Given the description of an element on the screen output the (x, y) to click on. 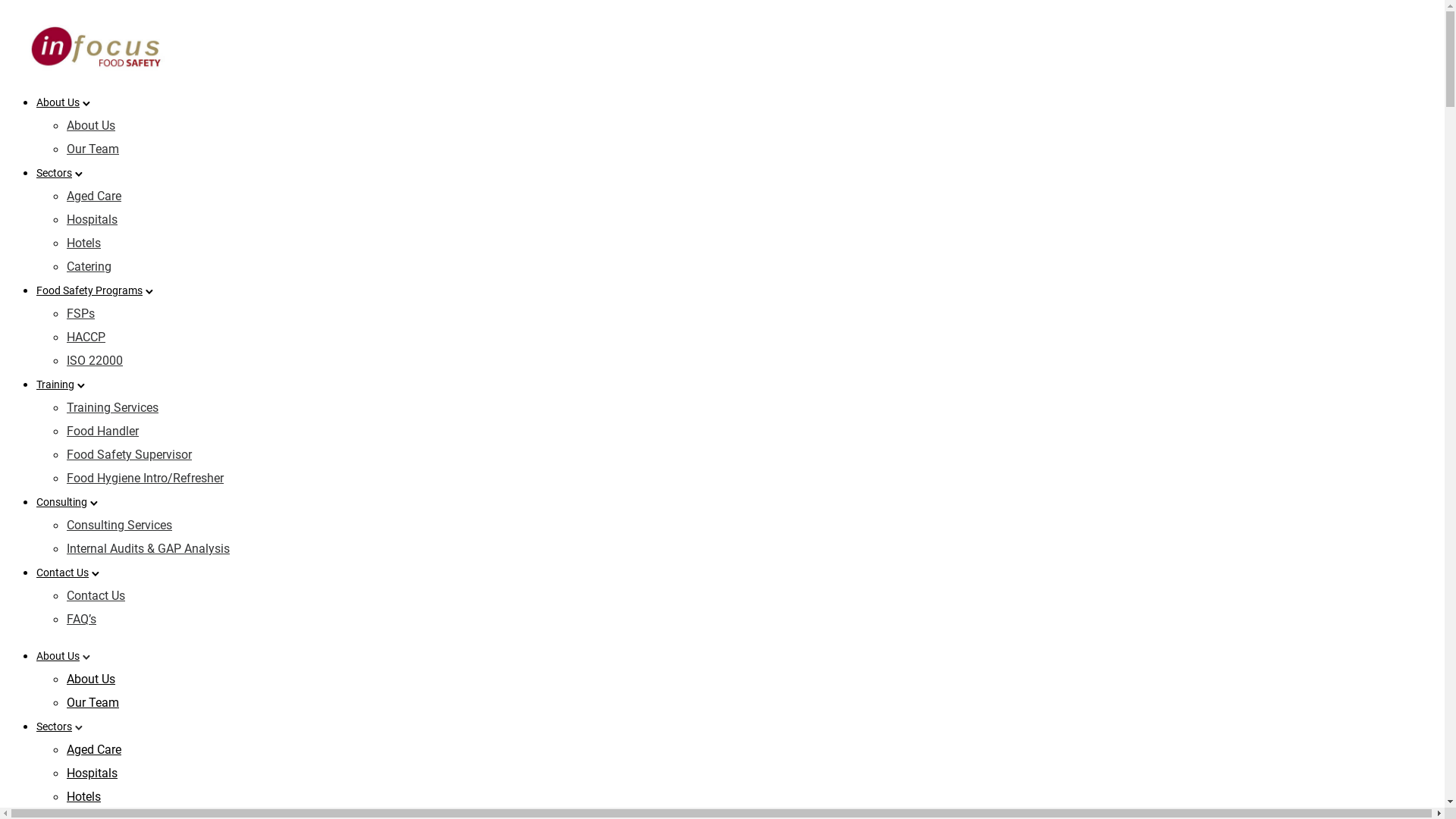
Our Team Element type: text (92, 702)
Hotels Element type: text (83, 242)
Consulting Element type: text (61, 501)
Our Team Element type: text (92, 148)
Food Safety Programs Element type: text (89, 290)
FSPs Element type: text (80, 313)
Hospitals Element type: text (91, 772)
About Us Element type: text (90, 125)
Food Safety Supervisor Element type: text (128, 454)
Catering Element type: text (88, 266)
Aged Care Element type: text (93, 749)
About Us Element type: text (90, 678)
Hospitals Element type: text (91, 219)
Contact Us Element type: text (62, 572)
Training Services Element type: text (112, 407)
HACCP Element type: text (85, 336)
Sectors Element type: text (54, 726)
Contact Us Element type: text (95, 595)
Food Hygiene Intro/Refresher Element type: text (144, 477)
Consulting Services Element type: text (119, 524)
About Us Element type: text (57, 102)
Sectors Element type: text (54, 172)
Aged Care Element type: text (93, 195)
Hotels Element type: text (83, 796)
Internal Audits & GAP Analysis Element type: text (147, 548)
About Us Element type: text (57, 655)
Food Handler Element type: text (102, 430)
ISO 22000 Element type: text (94, 360)
Training Element type: text (55, 384)
